Given the description of an element on the screen output the (x, y) to click on. 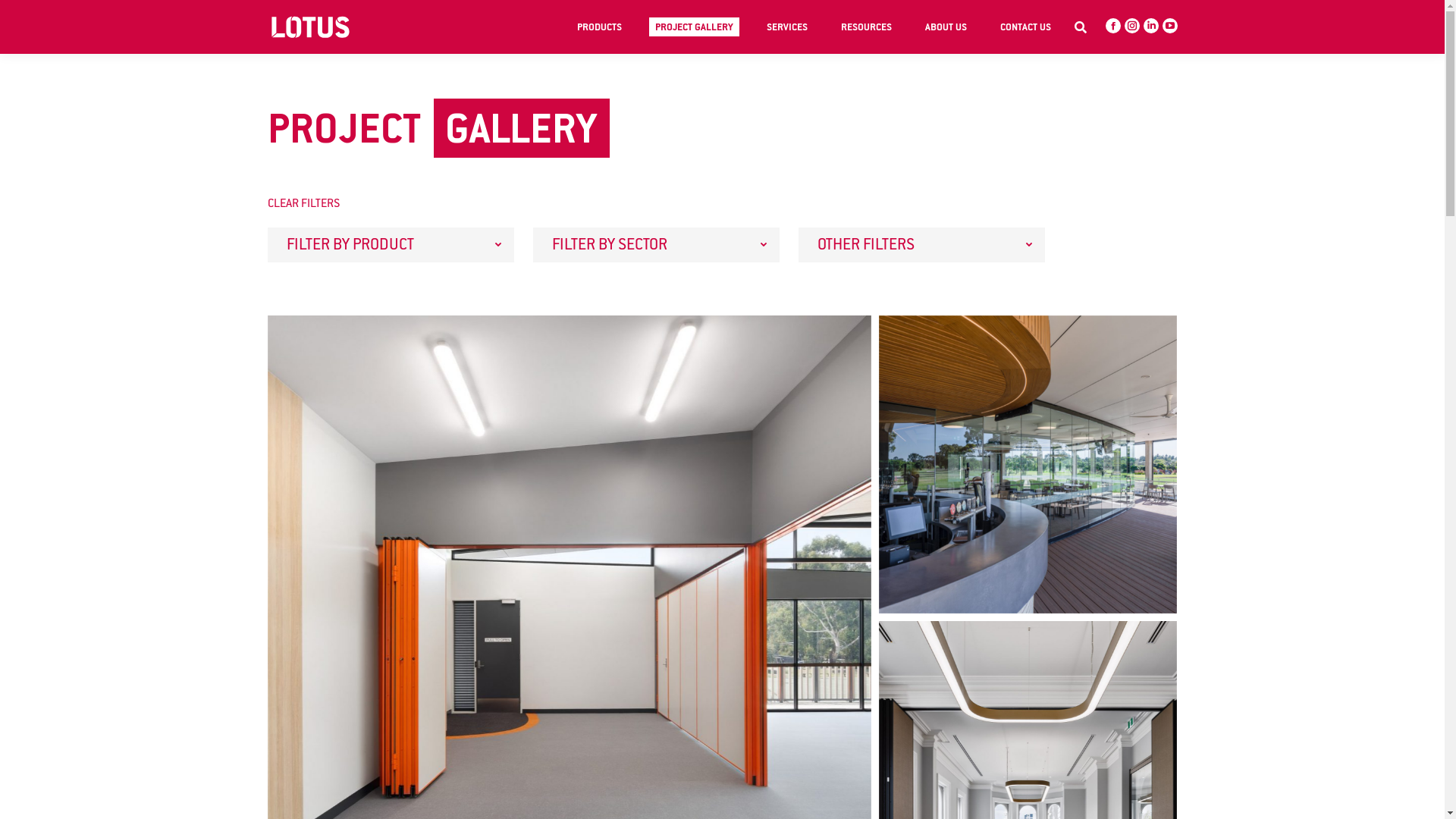
SERVICES Element type: text (785, 26)
Instagram page opens in new window Element type: text (1131, 25)
RESOURCES Element type: text (865, 26)
Facebook page opens in new window Element type: text (1112, 25)
CLEAR FILTERS Element type: text (721, 203)
Lakelands Country Club Element type: hover (1027, 464)
ABOUT US Element type: text (945, 26)
YouTube page opens in new window Element type: text (1168, 25)
PRODUCTS Element type: text (598, 26)
Linkedin page opens in new window Element type: text (1150, 25)
CONTACT US Element type: text (1024, 26)
Go! Element type: text (38, 14)
PROJECT GALLERY Element type: text (694, 26)
